Given the description of an element on the screen output the (x, y) to click on. 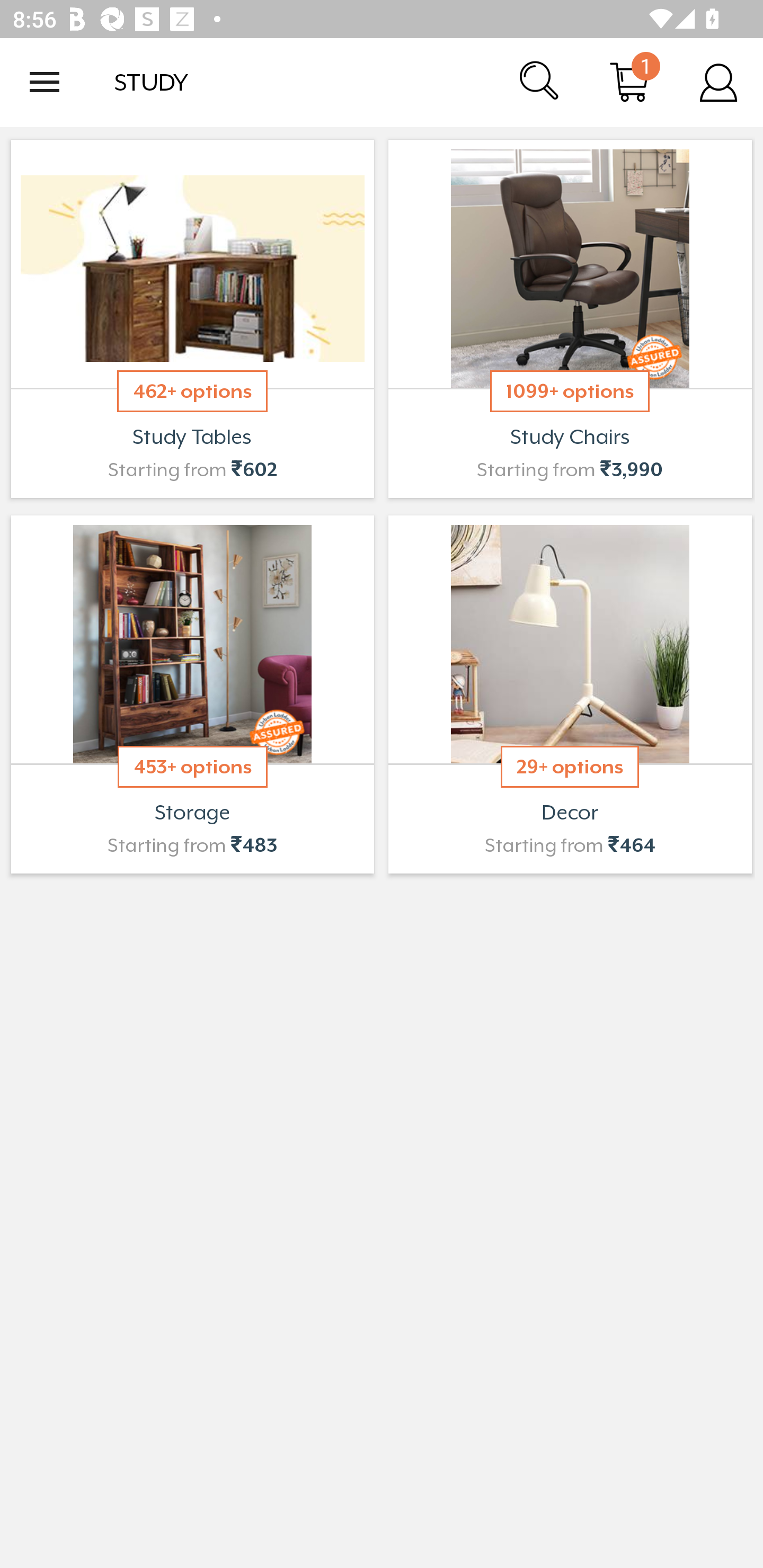
Open navigation drawer (44, 82)
Search (540, 81)
Cart (629, 81)
Account Details (718, 81)
462+ options Study Tables Starting from  ₹602 (191, 318)
1099+ options Study Chairs Starting from  ₹3,990 (570, 318)
453+ options Storage Starting from  ₹483 (191, 694)
29+ options Decor Starting from  ₹464 (570, 694)
